Given the description of an element on the screen output the (x, y) to click on. 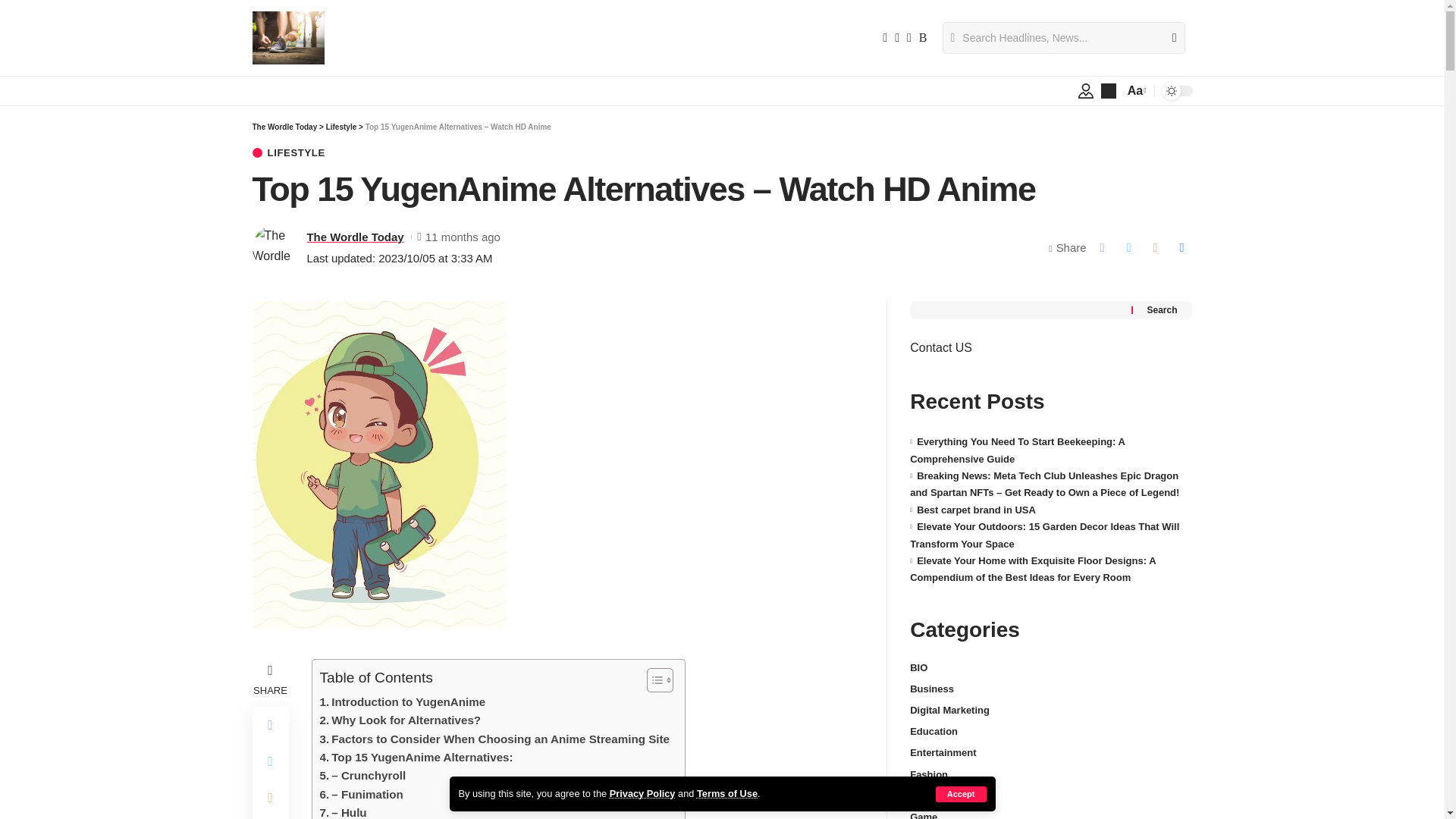
Accept (961, 794)
Go to The Wordle Today. (284, 126)
Terms of Use (727, 793)
The Wordle Today (287, 37)
The Wordle Today (284, 126)
Search (1168, 37)
Introduction to YugenAnime (403, 701)
Go to the Lifestyle Category archives. (341, 126)
The Wordle Today (354, 236)
LIFESTYLE (287, 153)
